Given the description of an element on the screen output the (x, y) to click on. 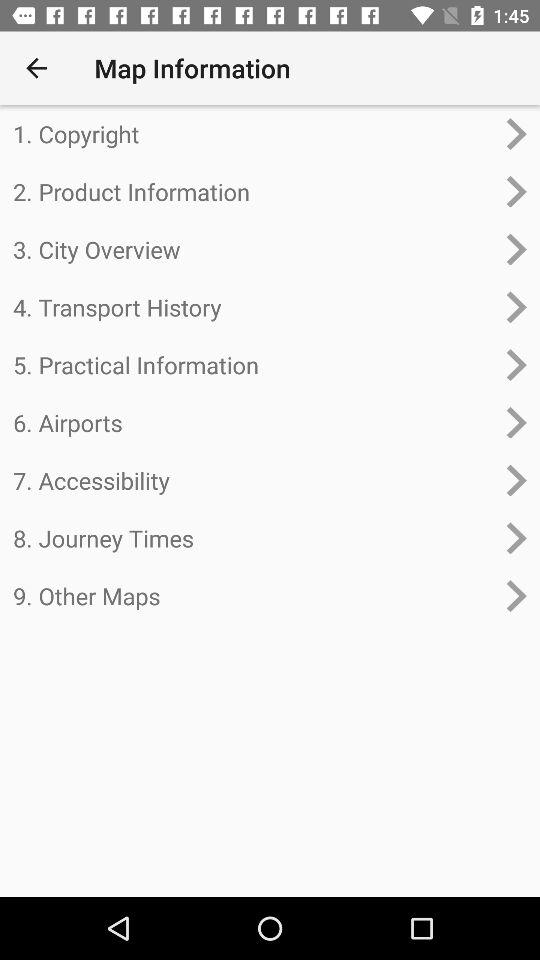
press 1. copyright icon (253, 134)
